Given the description of an element on the screen output the (x, y) to click on. 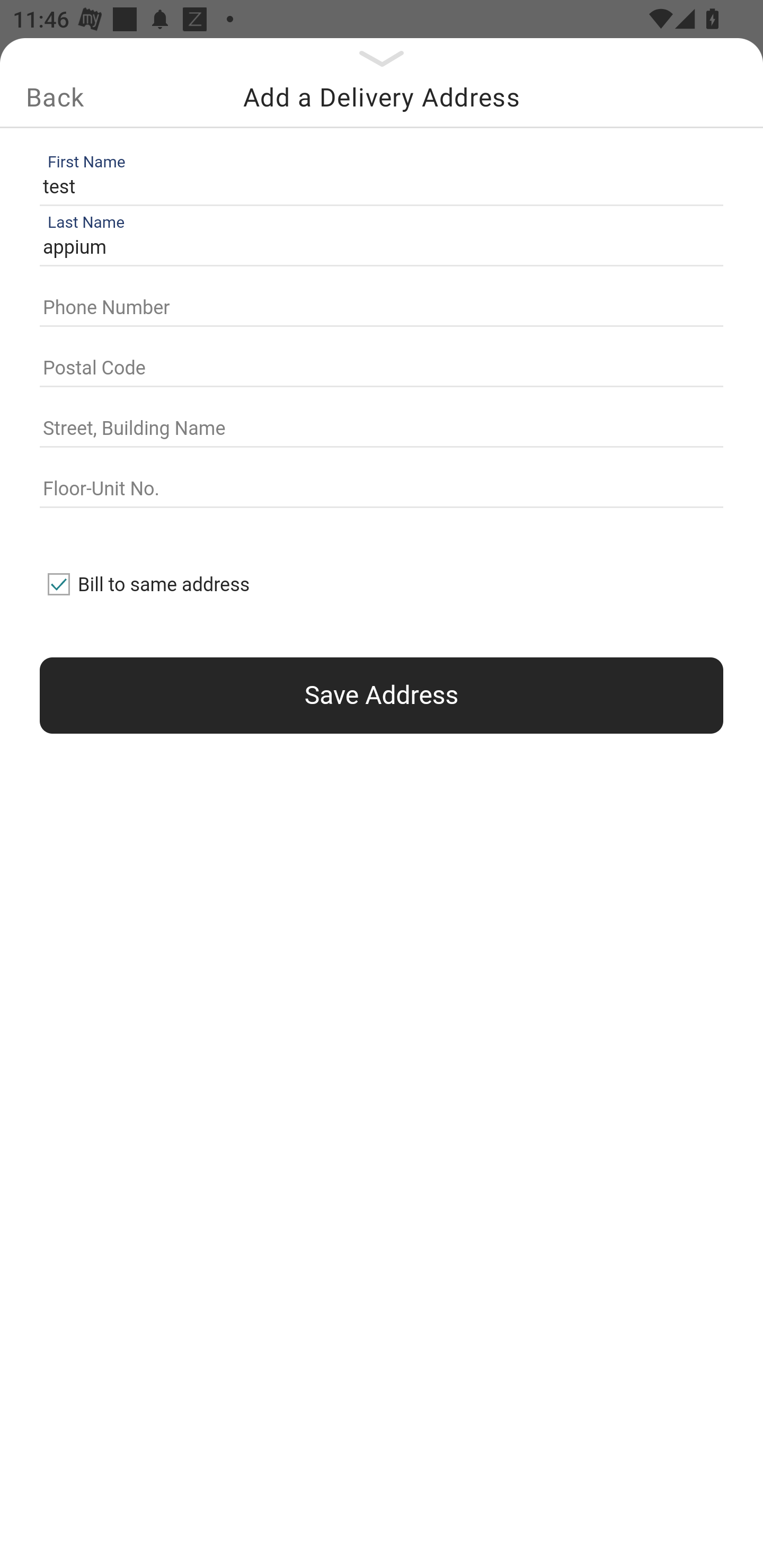
Back (54, 96)
Add a Delivery Address (381, 96)
test (377, 186)
appium (377, 247)
Save Address (381, 694)
